Given the description of an element on the screen output the (x, y) to click on. 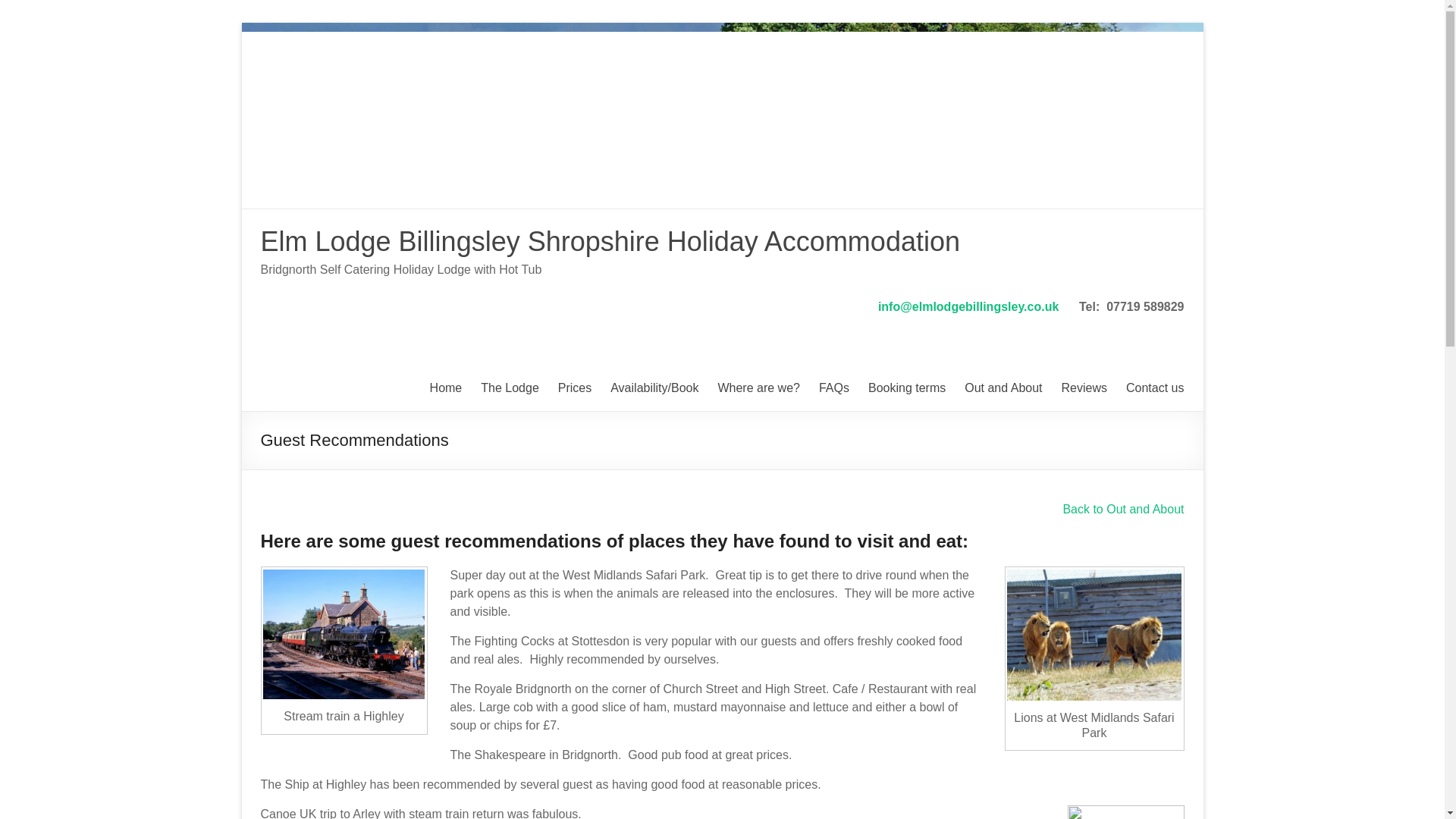
Where are we? (758, 387)
Prices (574, 387)
Back to Out and About (1122, 508)
FAQs (833, 387)
Out and About (1002, 387)
Elm Lodge Billingsley Shropshire Holiday Accommodation (609, 241)
Contact us (1154, 387)
Home (446, 387)
The Lodge (509, 387)
Booking terms (905, 387)
Reviews (1083, 387)
Elm Lodge Billingsley Shropshire Holiday Accommodation (609, 241)
